Given the description of an element on the screen output the (x, y) to click on. 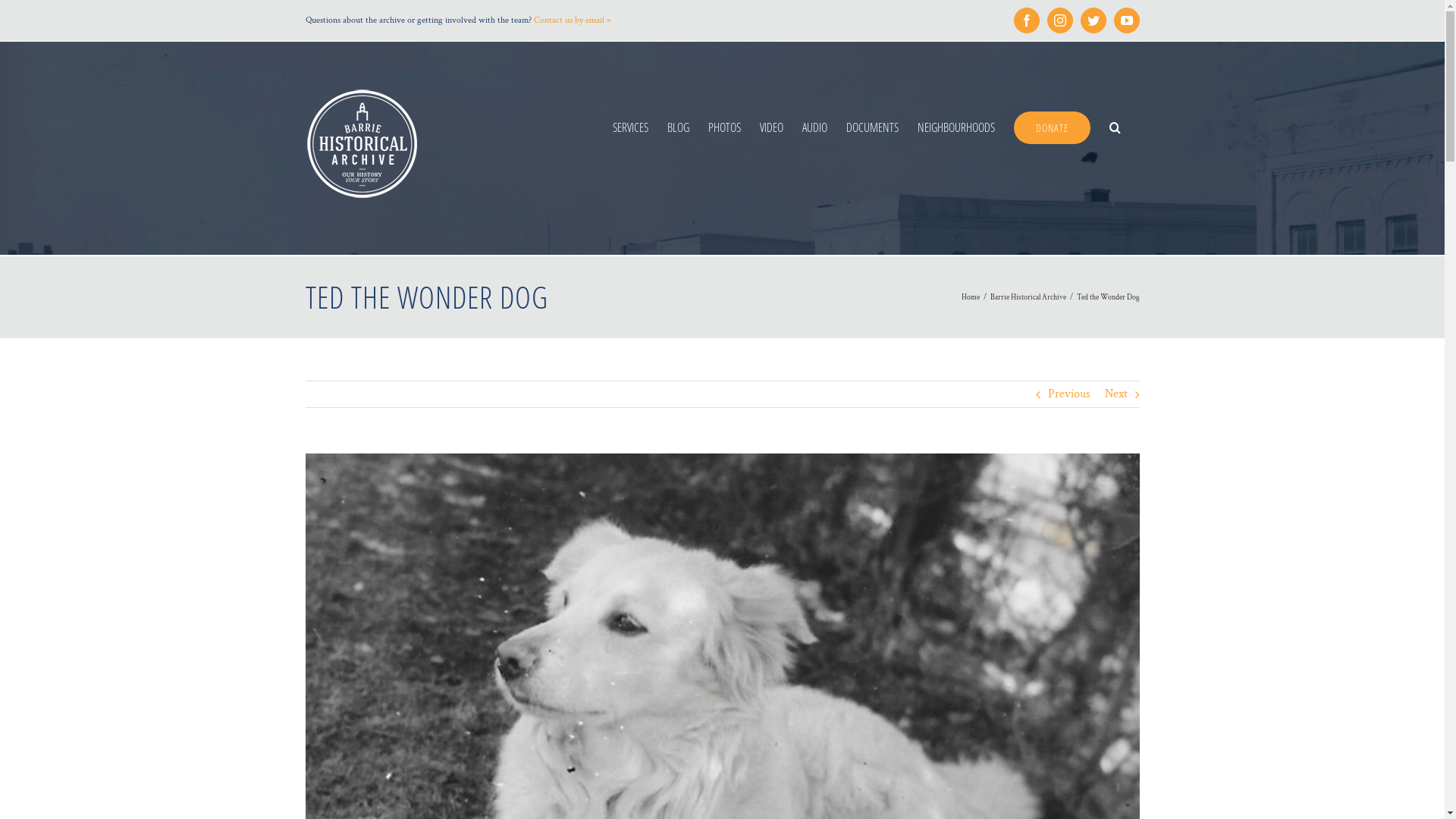
Previous Element type: text (1069, 394)
Facebook Element type: text (1025, 20)
YouTube Element type: text (1126, 20)
Twitter Element type: text (1092, 20)
Instagram Element type: text (1059, 20)
NEIGHBOURHOODS Element type: text (955, 126)
DONATE Element type: text (1051, 126)
Home Element type: text (970, 297)
Search Element type: hover (1114, 126)
PHOTOS Element type: text (724, 126)
VIDEO Element type: text (771, 126)
DOCUMENTS Element type: text (872, 126)
SERVICES Element type: text (630, 126)
AUDIO Element type: text (814, 126)
Next Element type: text (1115, 394)
BLOG Element type: text (678, 126)
Barrie Historical Archive Element type: text (1028, 297)
